Given the description of an element on the screen output the (x, y) to click on. 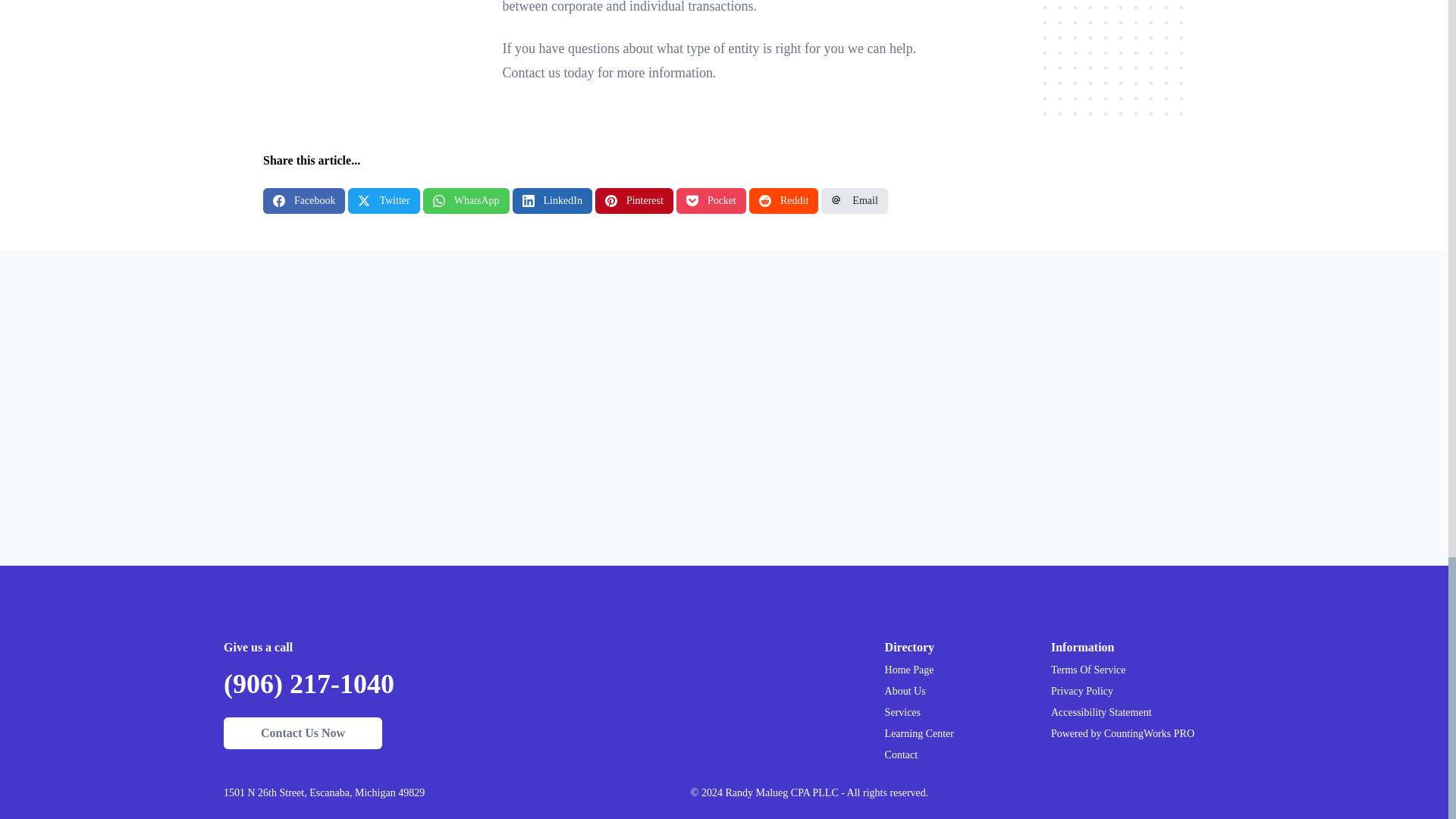
Pocket (711, 200)
WhatsApp (466, 200)
Reddit (783, 200)
Pinterest (633, 200)
Facebook (304, 200)
LinkedIn (552, 200)
Twitter (383, 200)
